Given the description of an element on the screen output the (x, y) to click on. 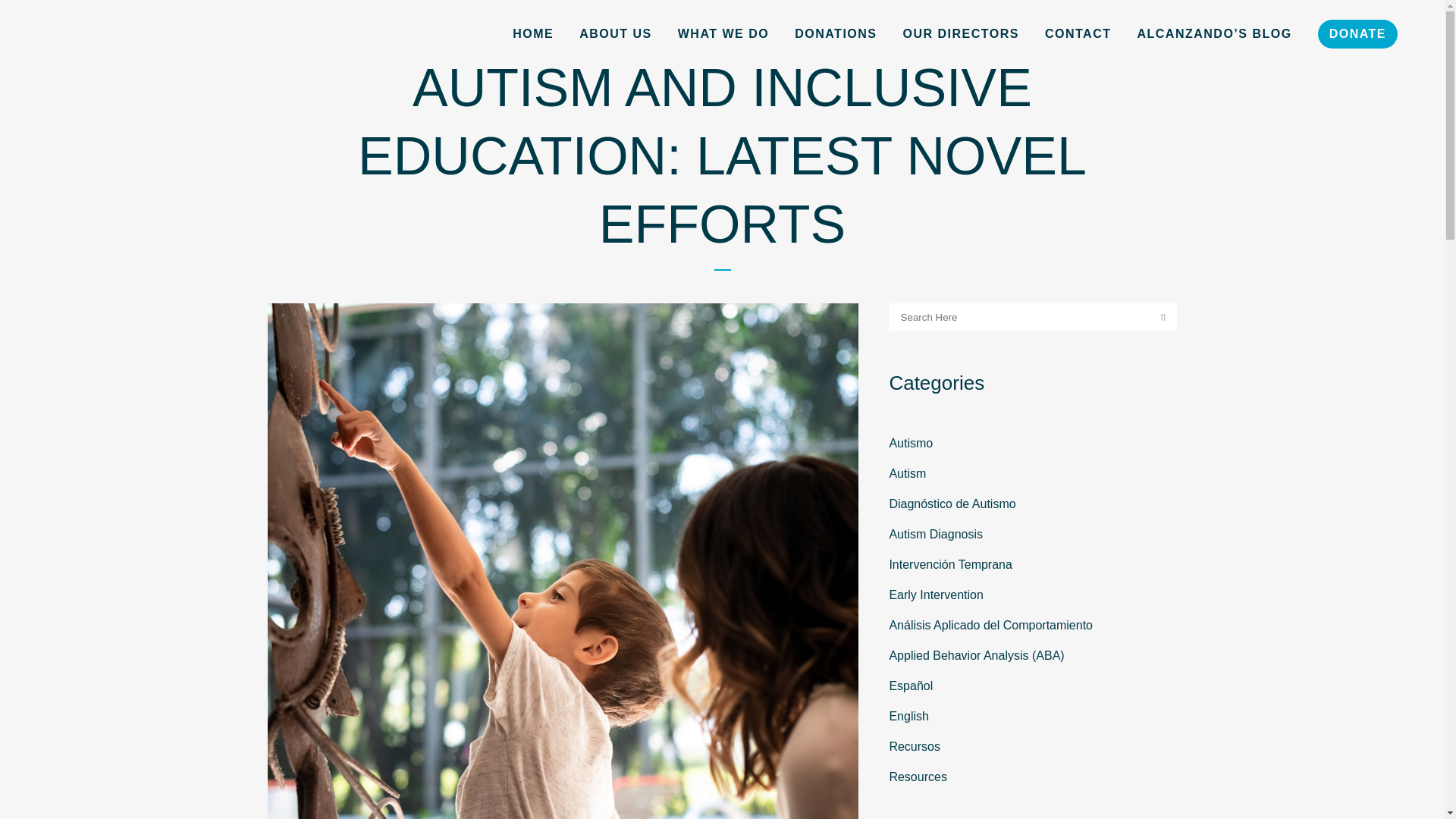
Autismo (910, 442)
Early Intervention (936, 594)
DONATIONS (835, 33)
CONTACT (1078, 33)
Autism (907, 472)
WHAT WE DO (723, 33)
ABOUT US (615, 33)
OUR DIRECTORS (960, 33)
DONATE (1357, 33)
HOME (532, 33)
